Given the description of an element on the screen output the (x, y) to click on. 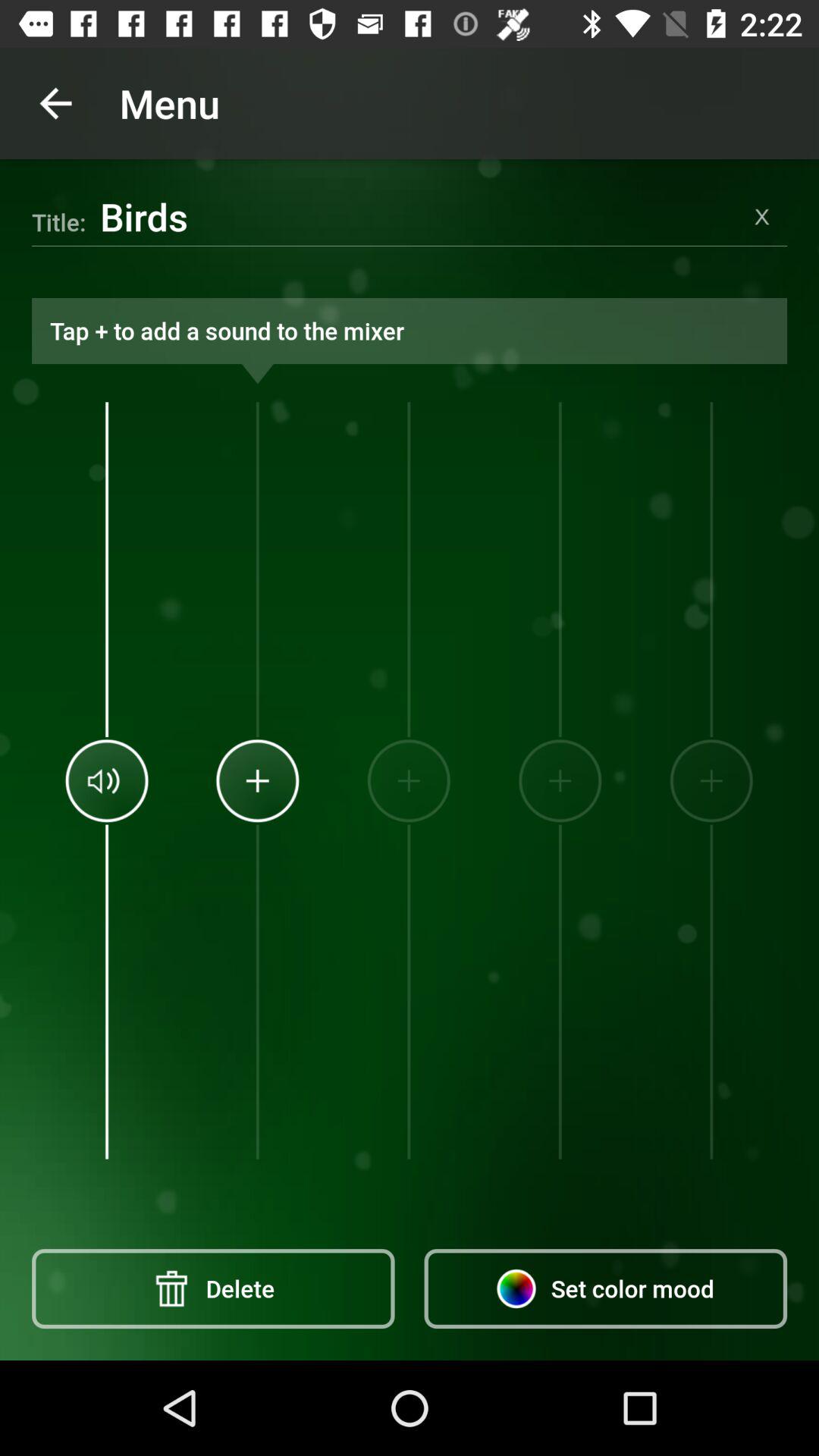
close screen (762, 216)
